Given the description of an element on the screen output the (x, y) to click on. 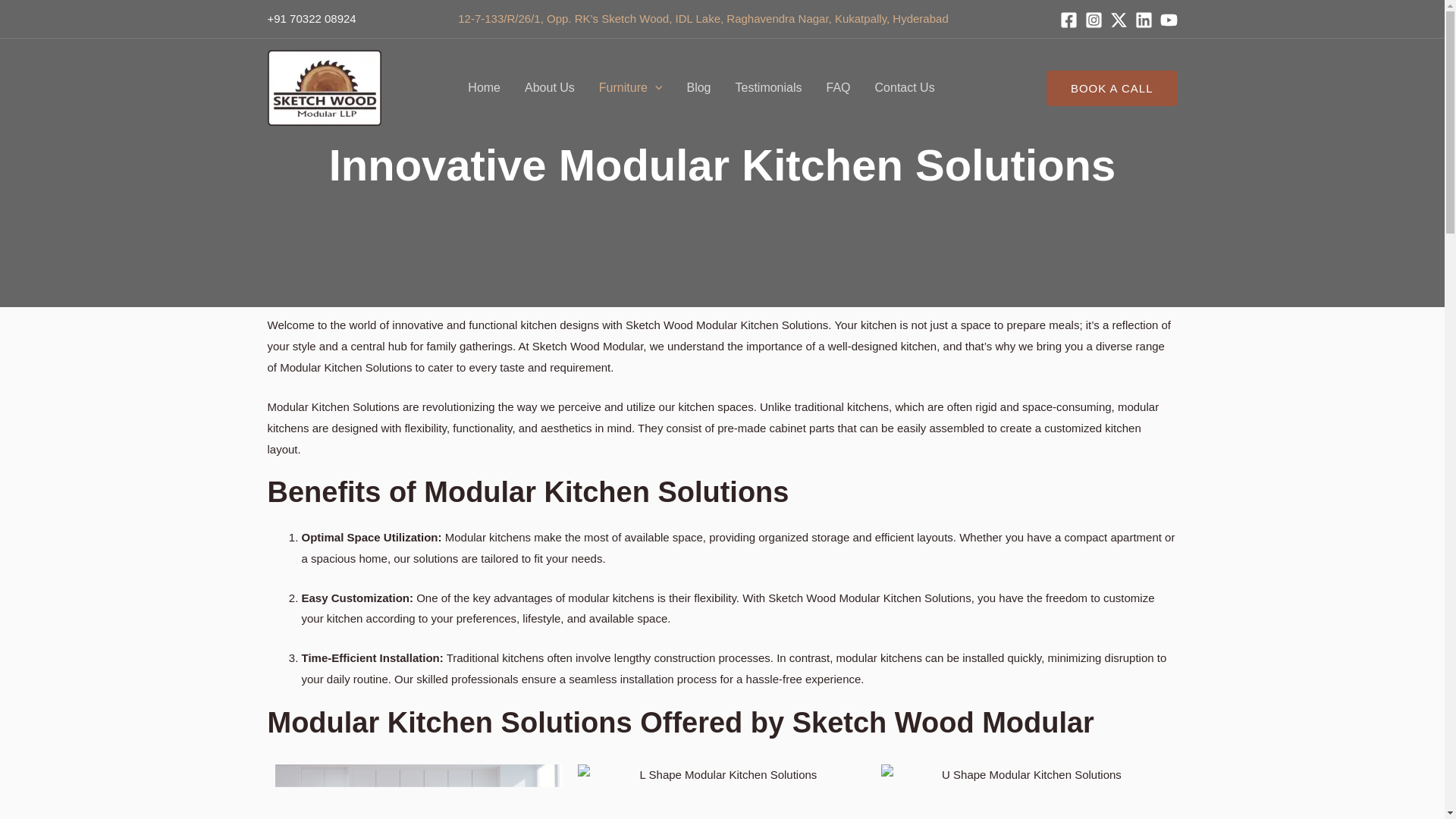
About Us (549, 87)
BOOK A CALL (1111, 87)
Home (483, 87)
Blog (698, 87)
Contact Us (905, 87)
FAQ (838, 87)
Furniture (630, 87)
Testimonials (767, 87)
